Given the description of an element on the screen output the (x, y) to click on. 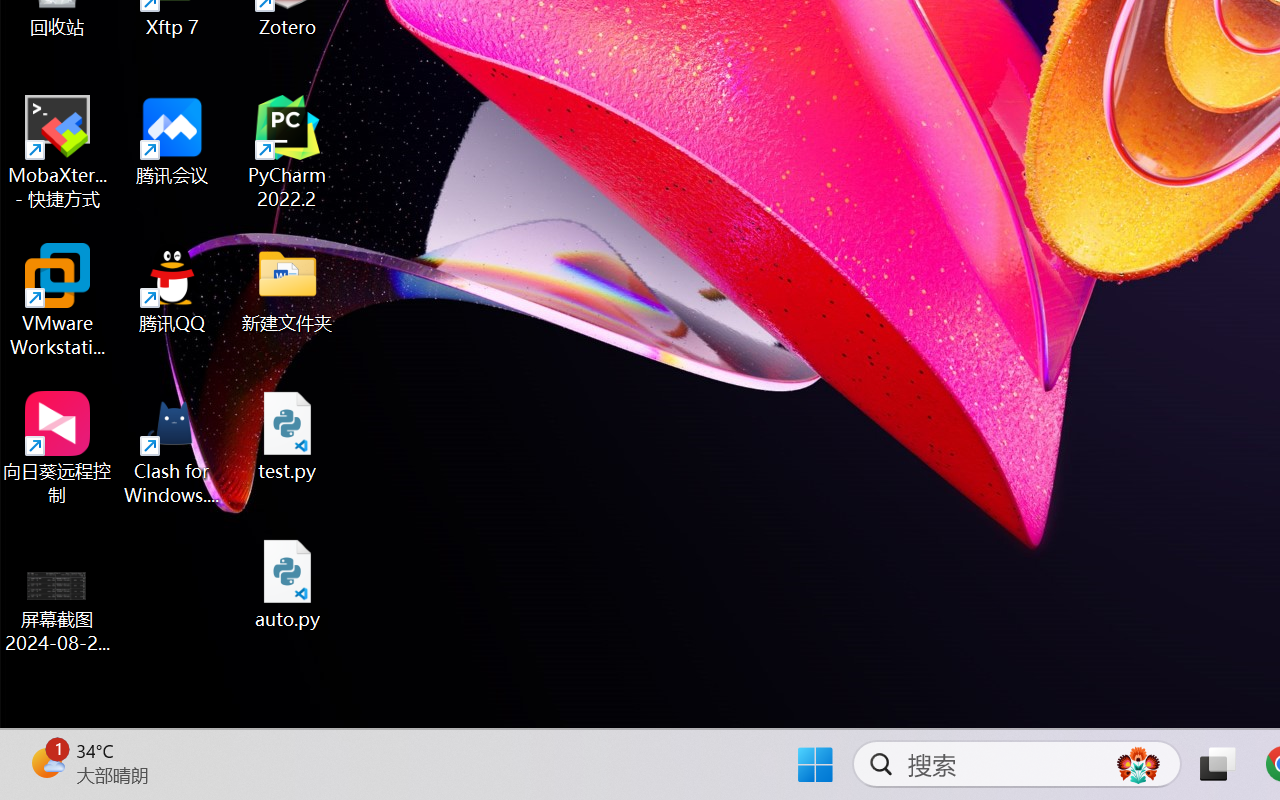
test.py (287, 436)
PyCharm 2022.2 (287, 152)
VMware Workstation Pro (57, 300)
